Given the description of an element on the screen output the (x, y) to click on. 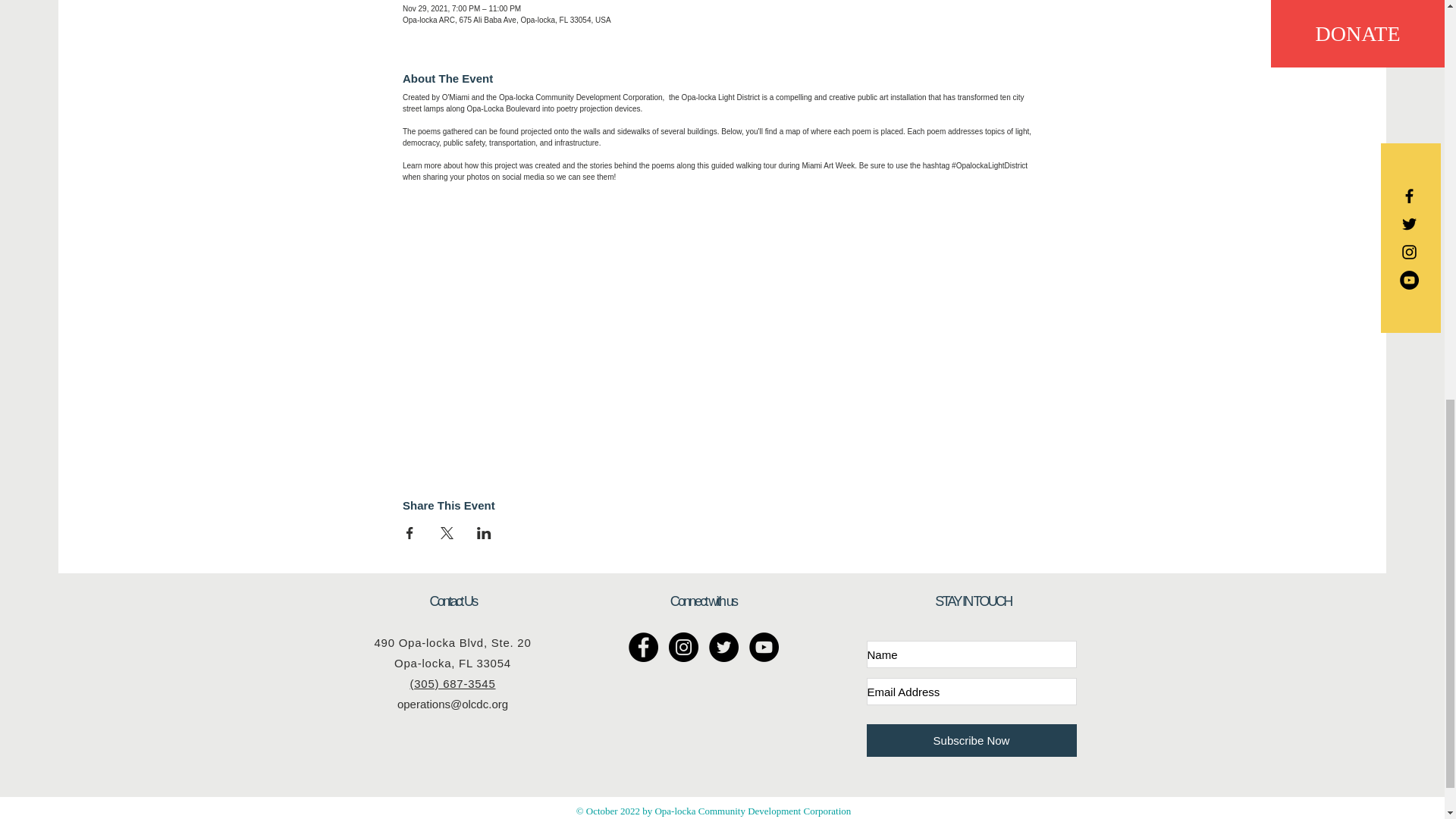
Subscribe Now (970, 739)
